Given the description of an element on the screen output the (x, y) to click on. 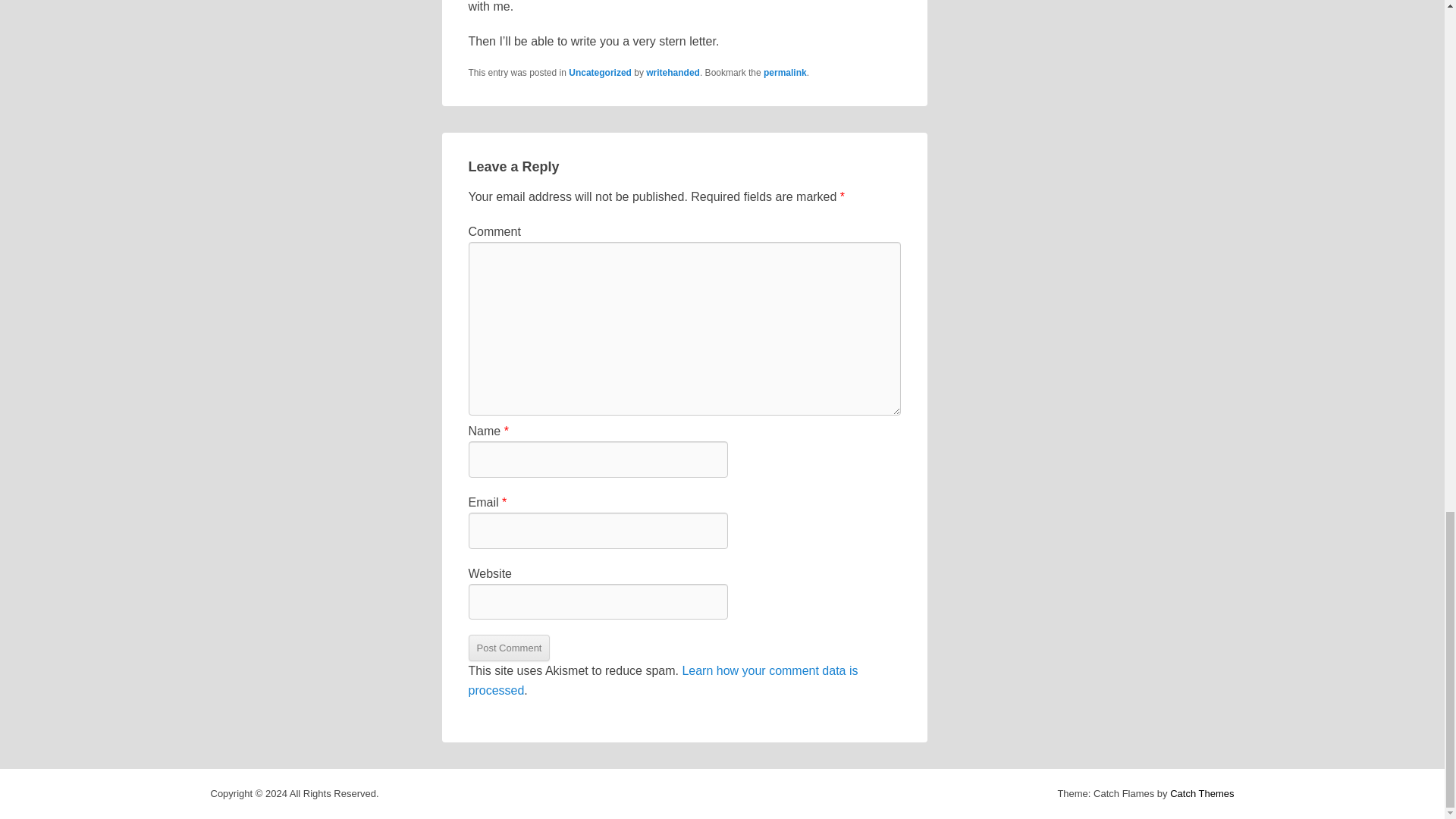
Permalink to The cry of the sloth (784, 72)
Learn how your comment data is processed (663, 680)
writehanded (673, 72)
Post Comment (509, 647)
Post Comment (509, 647)
Uncategorized (600, 72)
Catch Themes (1201, 793)
Catch Themes (1201, 793)
permalink (784, 72)
